Given the description of an element on the screen output the (x, y) to click on. 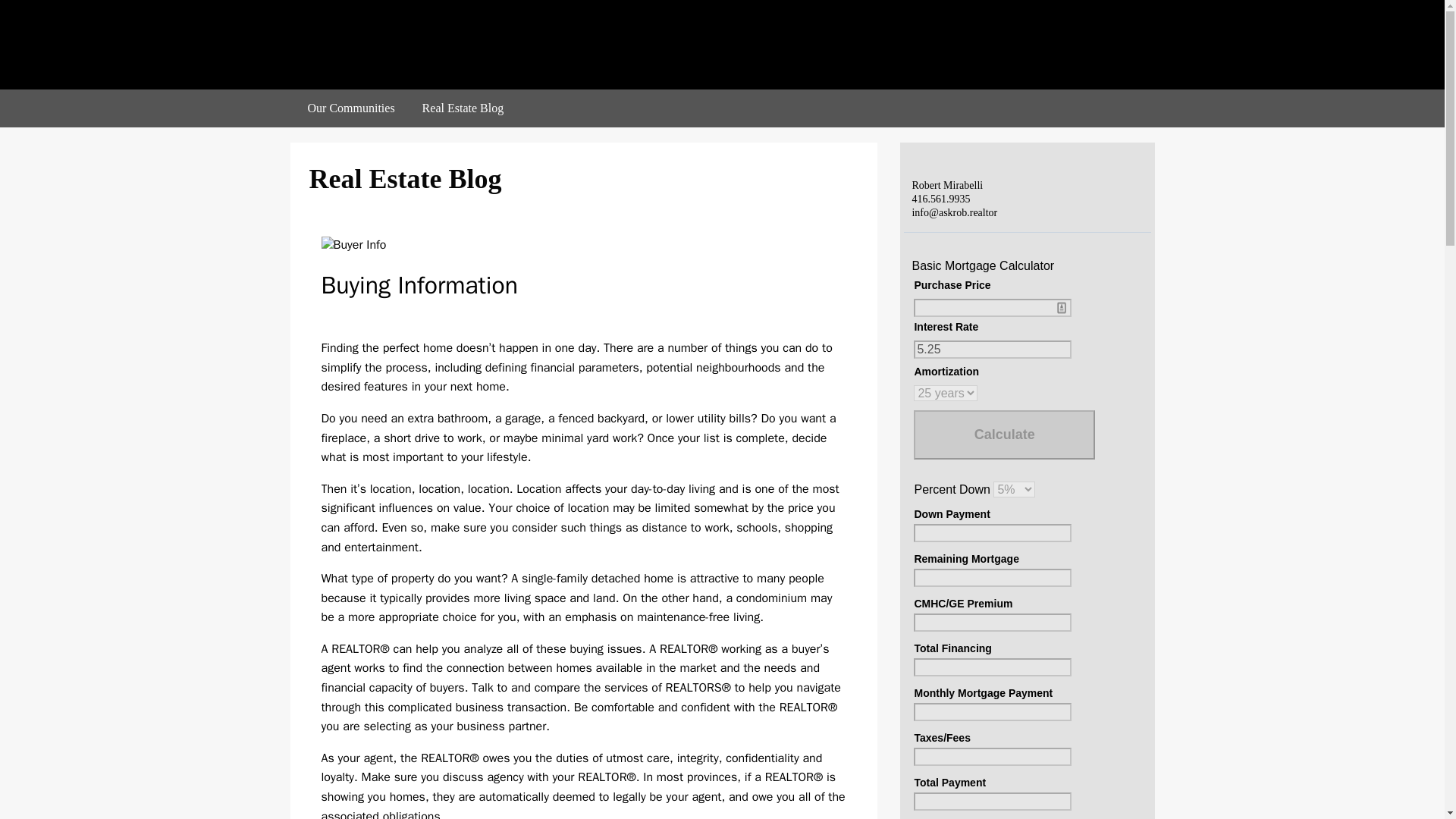
Calculate (1004, 434)
Our Communities (351, 108)
Real Estate Blog (463, 108)
5.25 (992, 349)
